Given the description of an element on the screen output the (x, y) to click on. 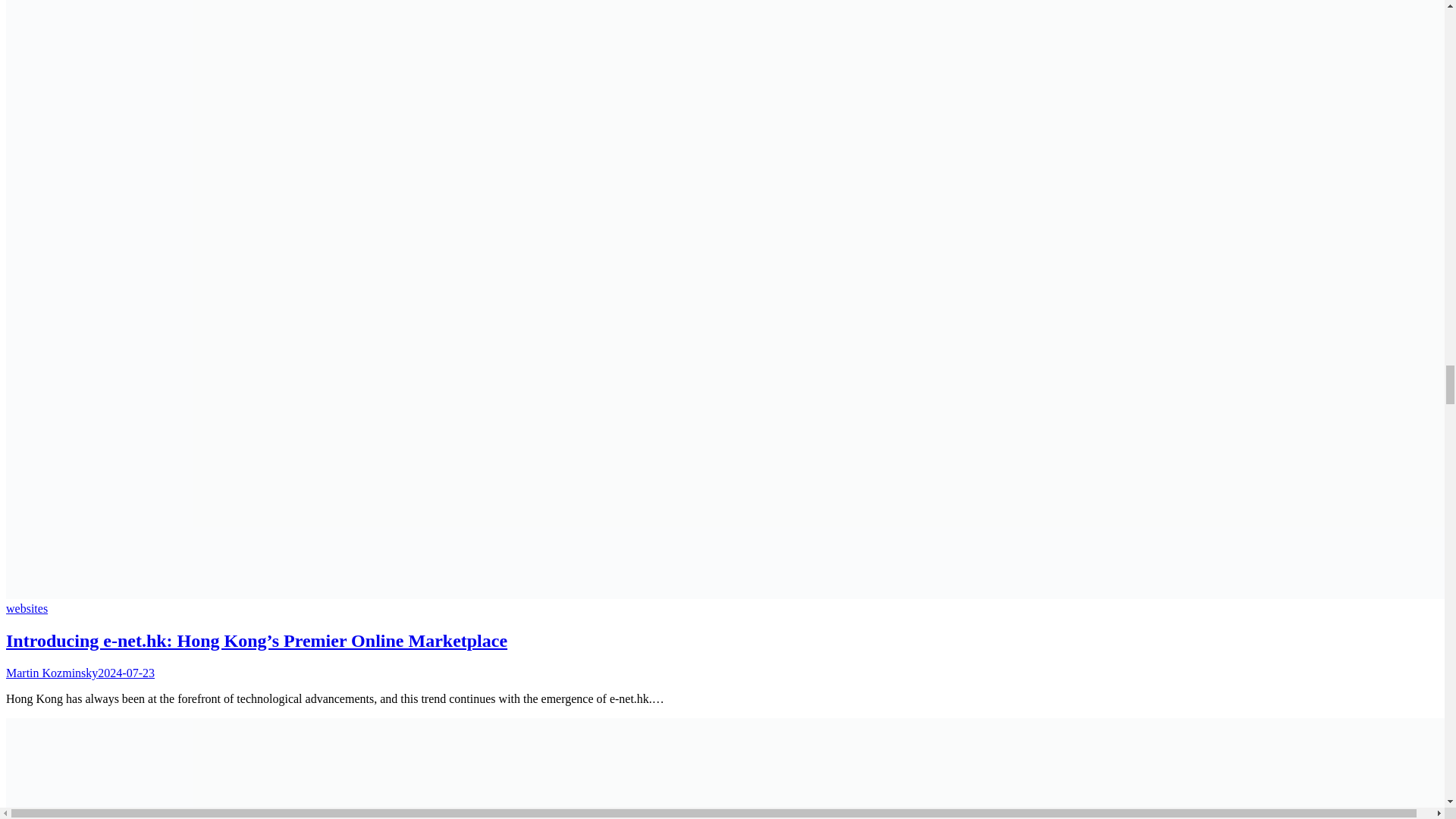
2024-07-23 (125, 672)
websites (26, 608)
Martin Kozminsky (51, 672)
